Given the description of an element on the screen output the (x, y) to click on. 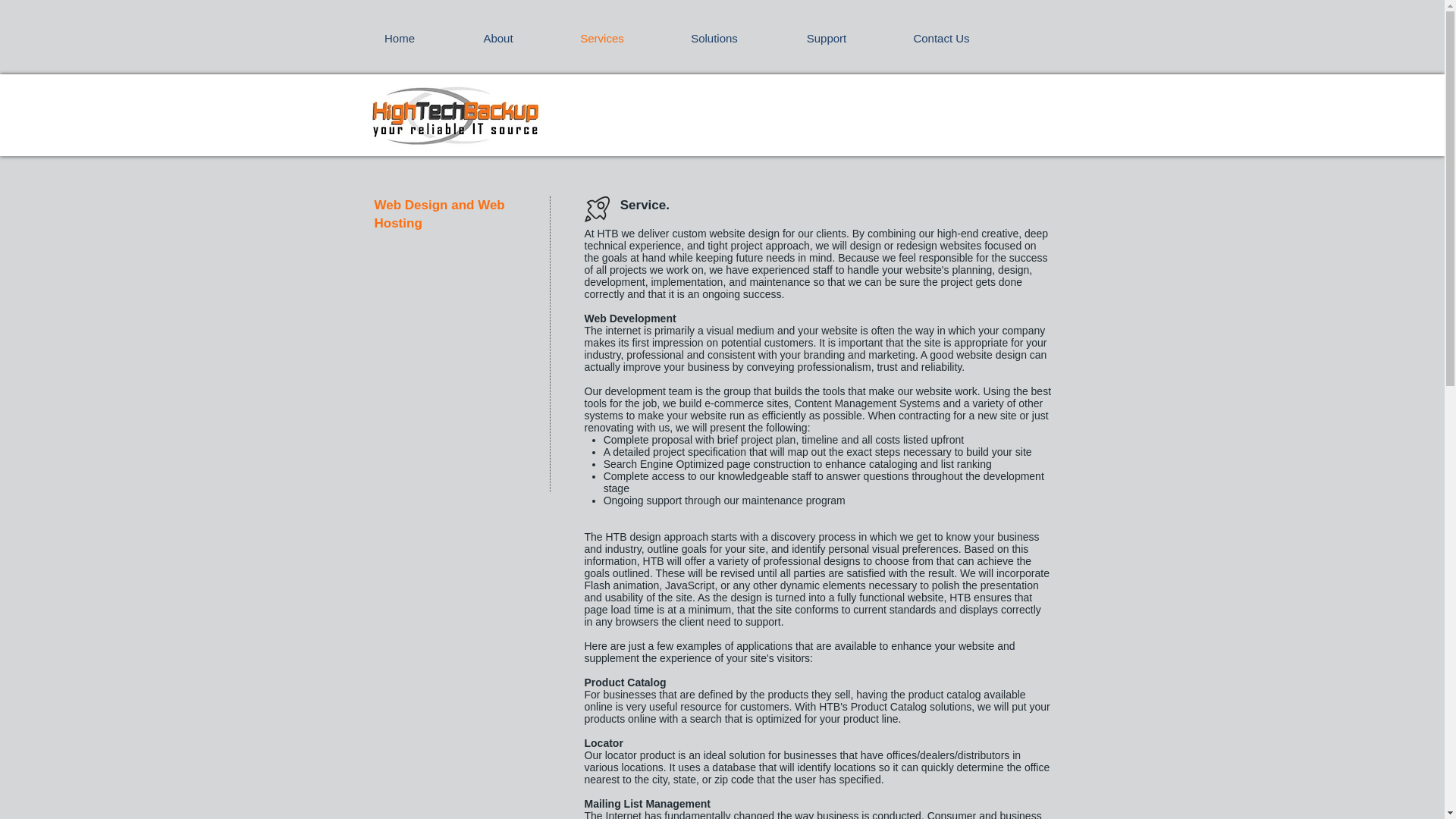
About (498, 37)
Solutions (714, 37)
Home (399, 37)
Support (825, 37)
Contact Us (941, 37)
Services (601, 37)
